Given the description of an element on the screen output the (x, y) to click on. 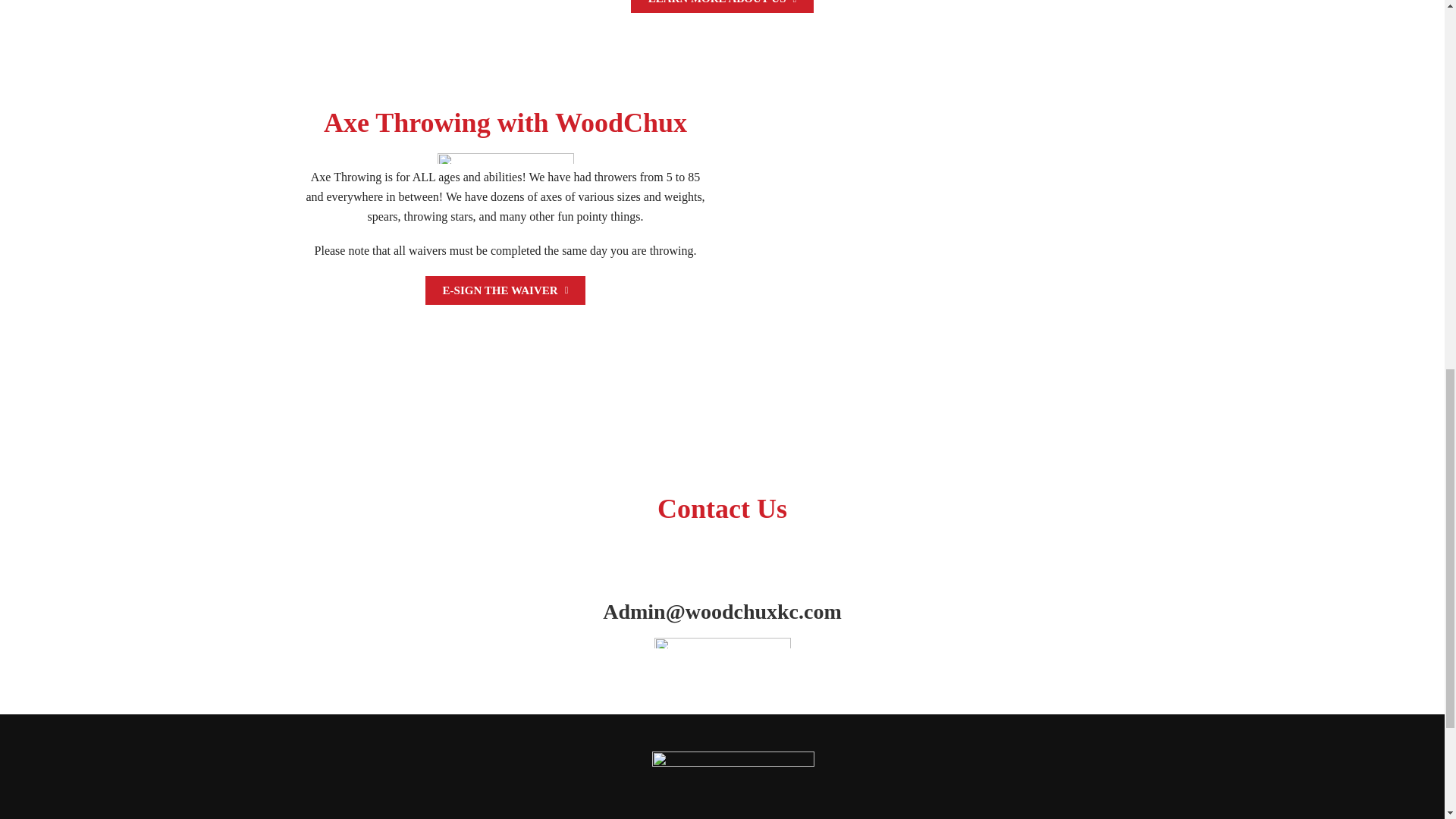
separators (504, 158)
LEARN MORE ABOUT US (721, 6)
E-SIGN THE WAIVER (505, 290)
separators (721, 643)
